Given the description of an element on the screen output the (x, y) to click on. 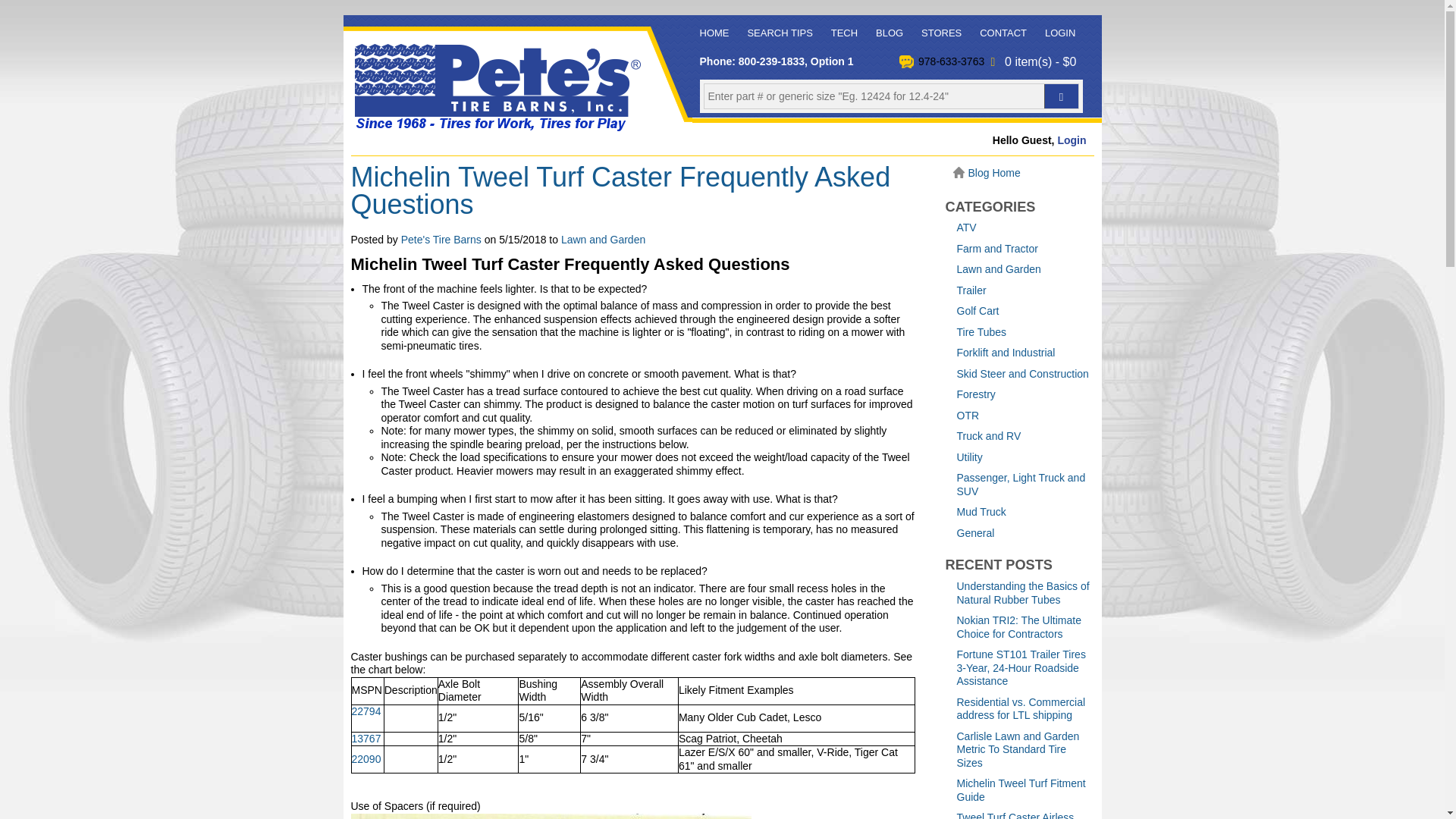
SEARCH TIPS (779, 32)
Google Plus Profile for Pete's Tire Barns (441, 239)
Michelin Tweel Turf Caster Frequently Asked Questions (619, 189)
BLOG (889, 32)
CONTACT (1002, 32)
LOGIN (1059, 32)
Login (1071, 140)
STORES (941, 32)
HOME (713, 32)
TECH (844, 32)
